Given the description of an element on the screen output the (x, y) to click on. 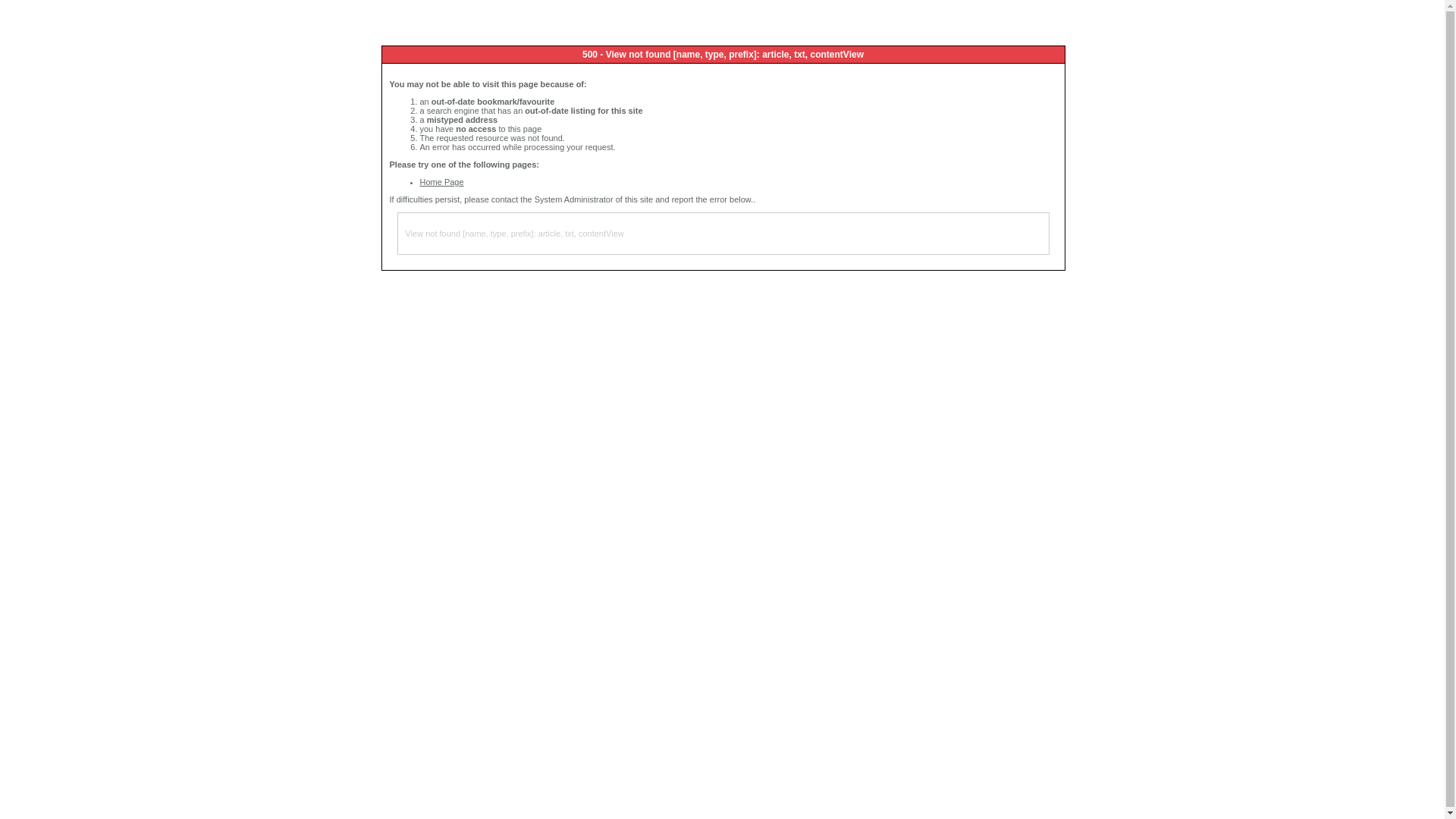
Home Page Element type: text (442, 181)
